Given the description of an element on the screen output the (x, y) to click on. 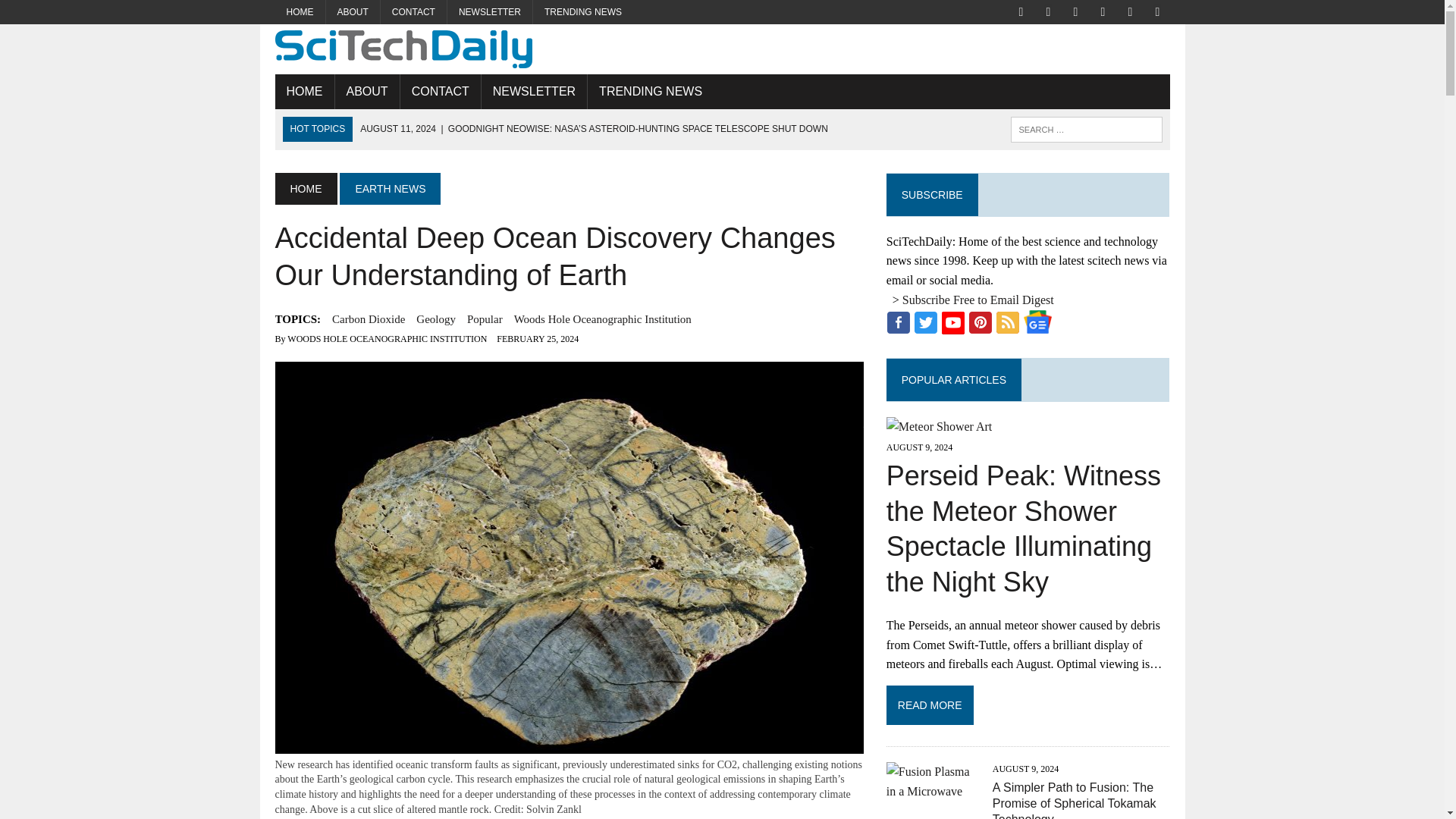
NEWSLETTER (533, 91)
Carbon Dioxide (367, 319)
SciTechDaily Newsletter (489, 12)
Contact SciTechDaily.com (413, 12)
TRENDING NEWS (582, 12)
About SciTechDaily (353, 12)
HOME (305, 188)
TRENDING NEWS (650, 91)
EARTH NEWS (390, 188)
SciTechDaily (722, 48)
